Given the description of an element on the screen output the (x, y) to click on. 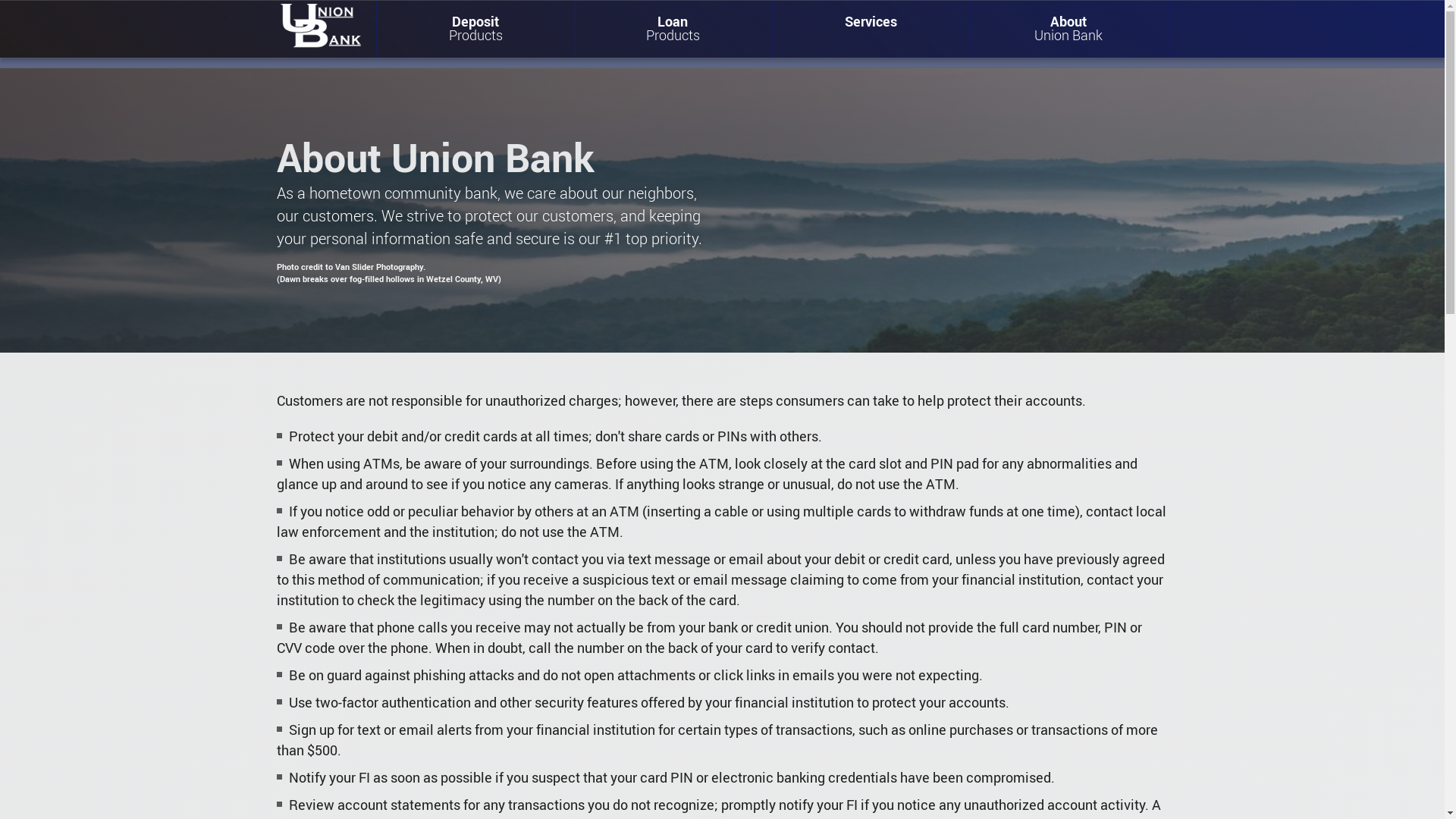
submit Element type: text (892, 366)
